Given the description of an element on the screen output the (x, y) to click on. 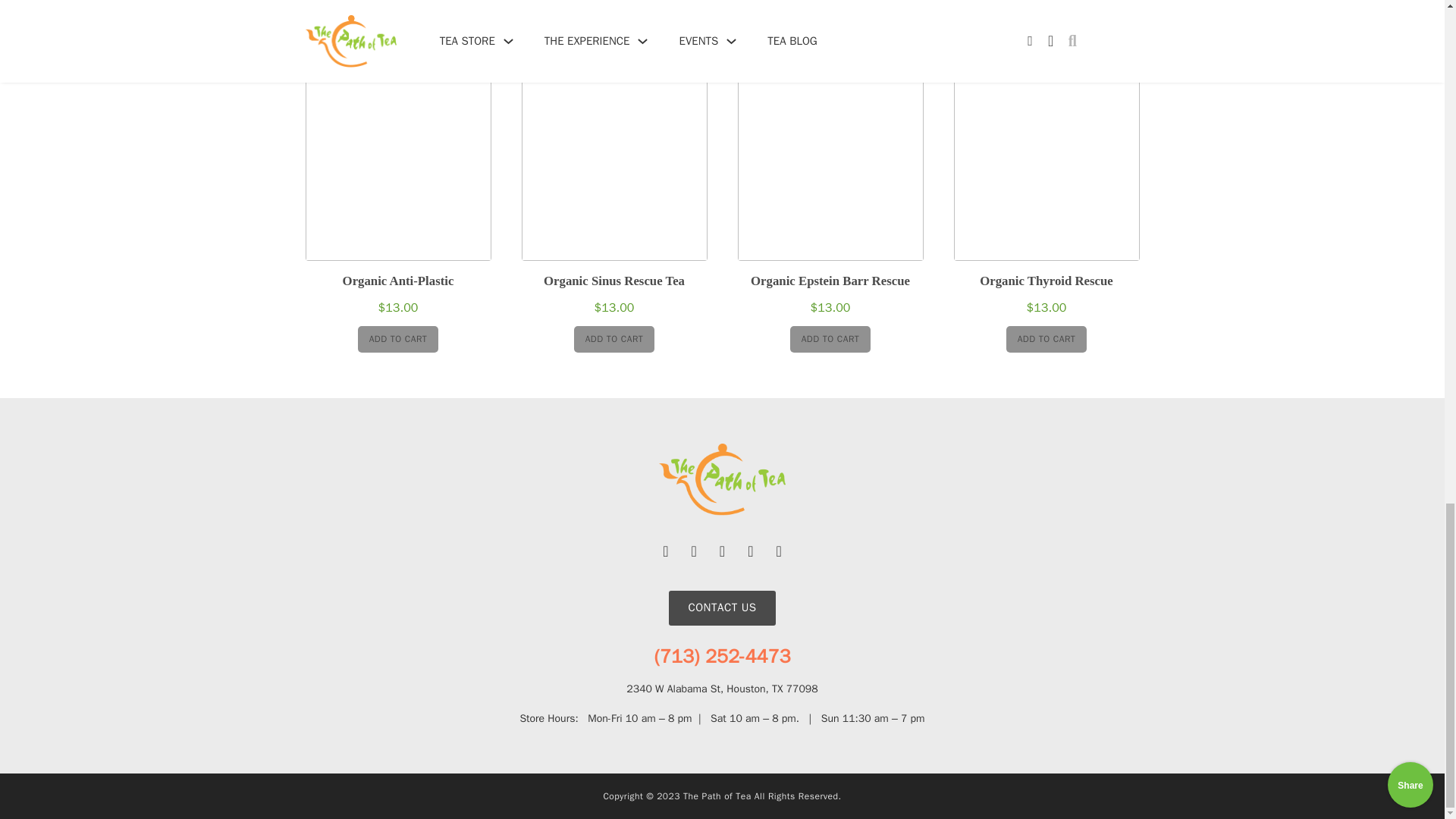
Call Us (721, 656)
Contact The Path of Tea (721, 607)
